Given the description of an element on the screen output the (x, y) to click on. 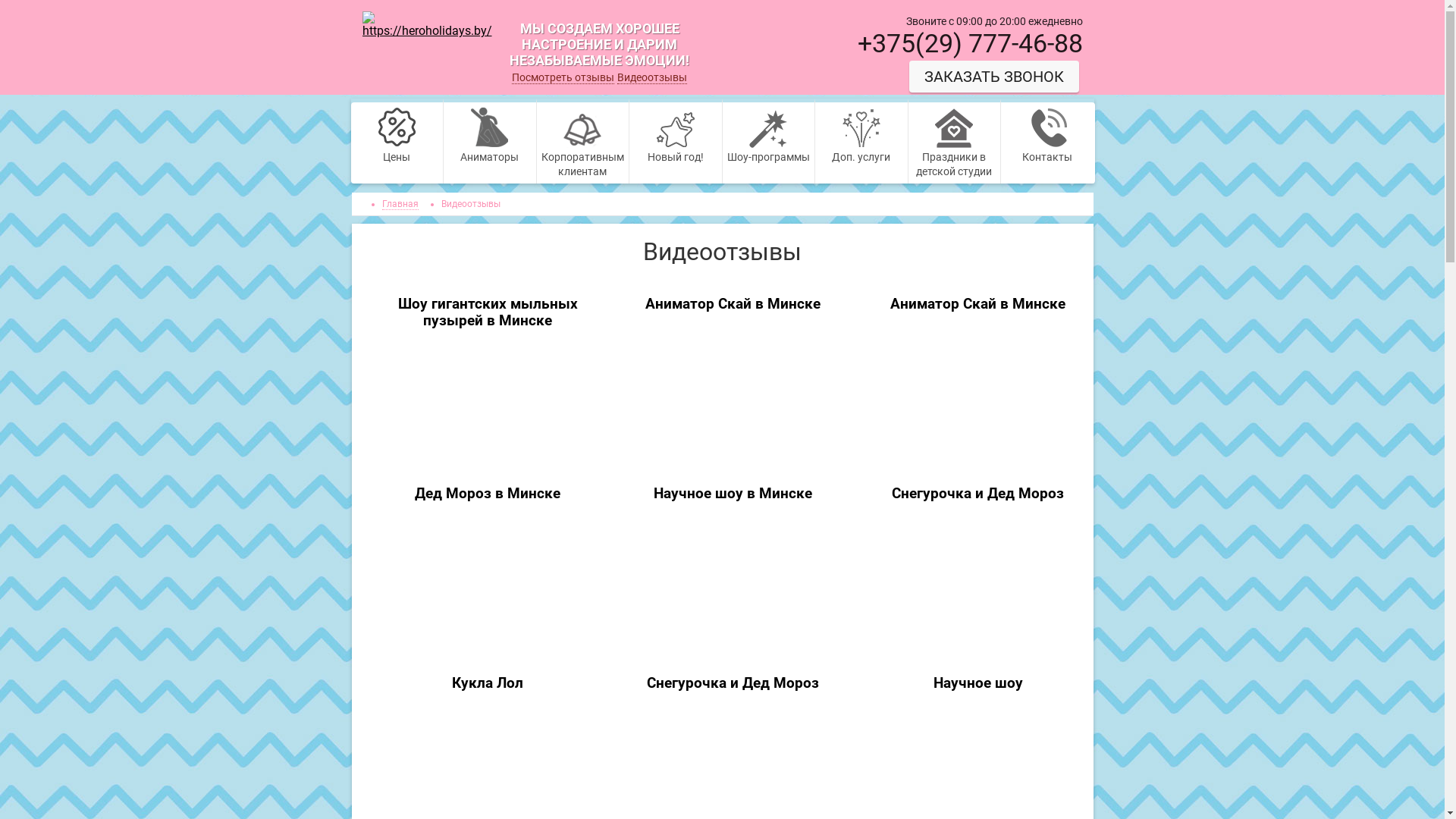
+375(29) 777-46-88 Element type: text (967, 43)
https://heroholidays.by/ Element type: hover (427, 24)
